Given the description of an element on the screen output the (x, y) to click on. 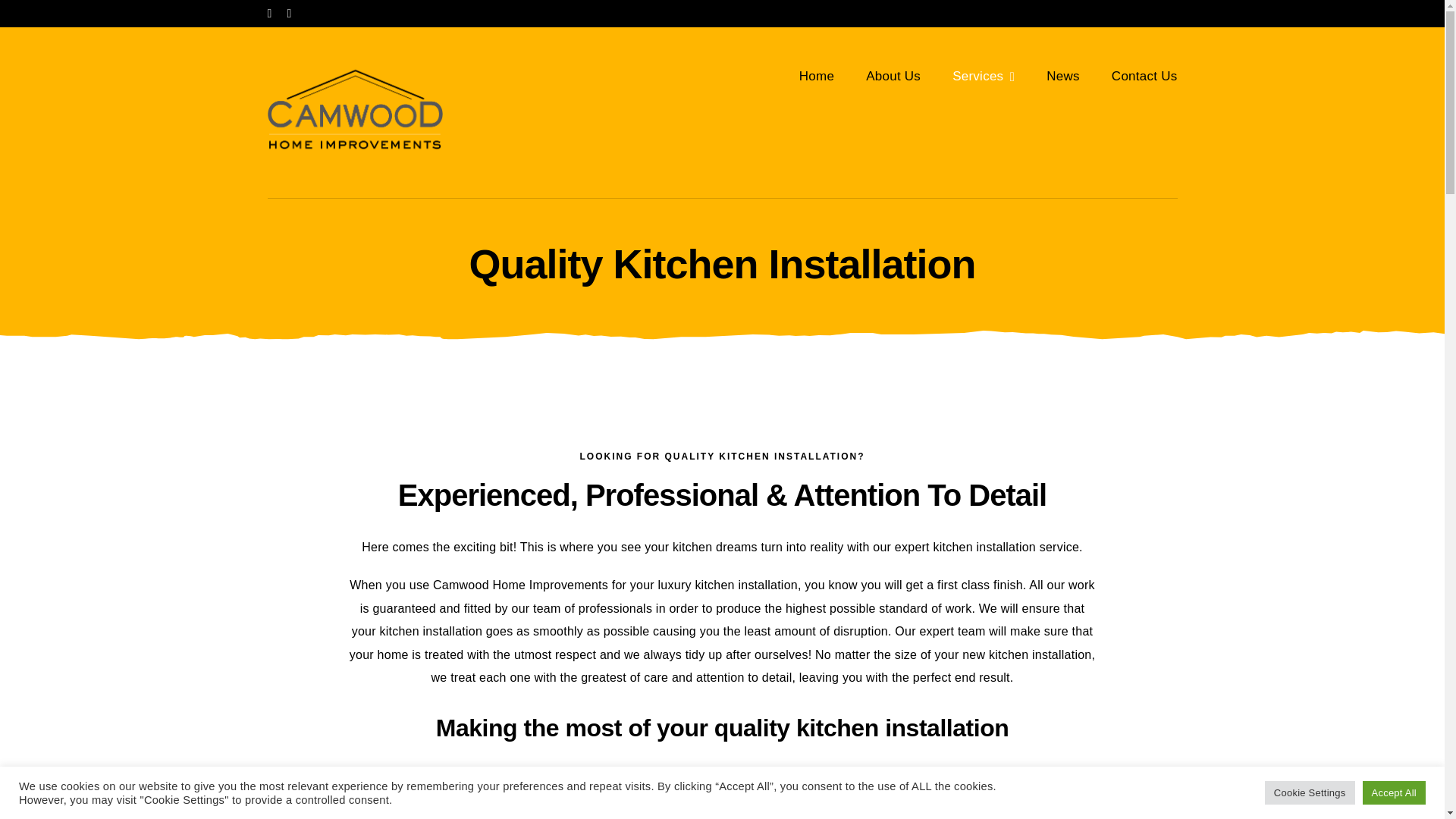
Contact Us (1144, 76)
Services (983, 76)
Home (816, 76)
Accept All (1393, 792)
Cookie Settings (1310, 792)
Camwood Home Improvements (520, 584)
About Us (893, 76)
